Given the description of an element on the screen output the (x, y) to click on. 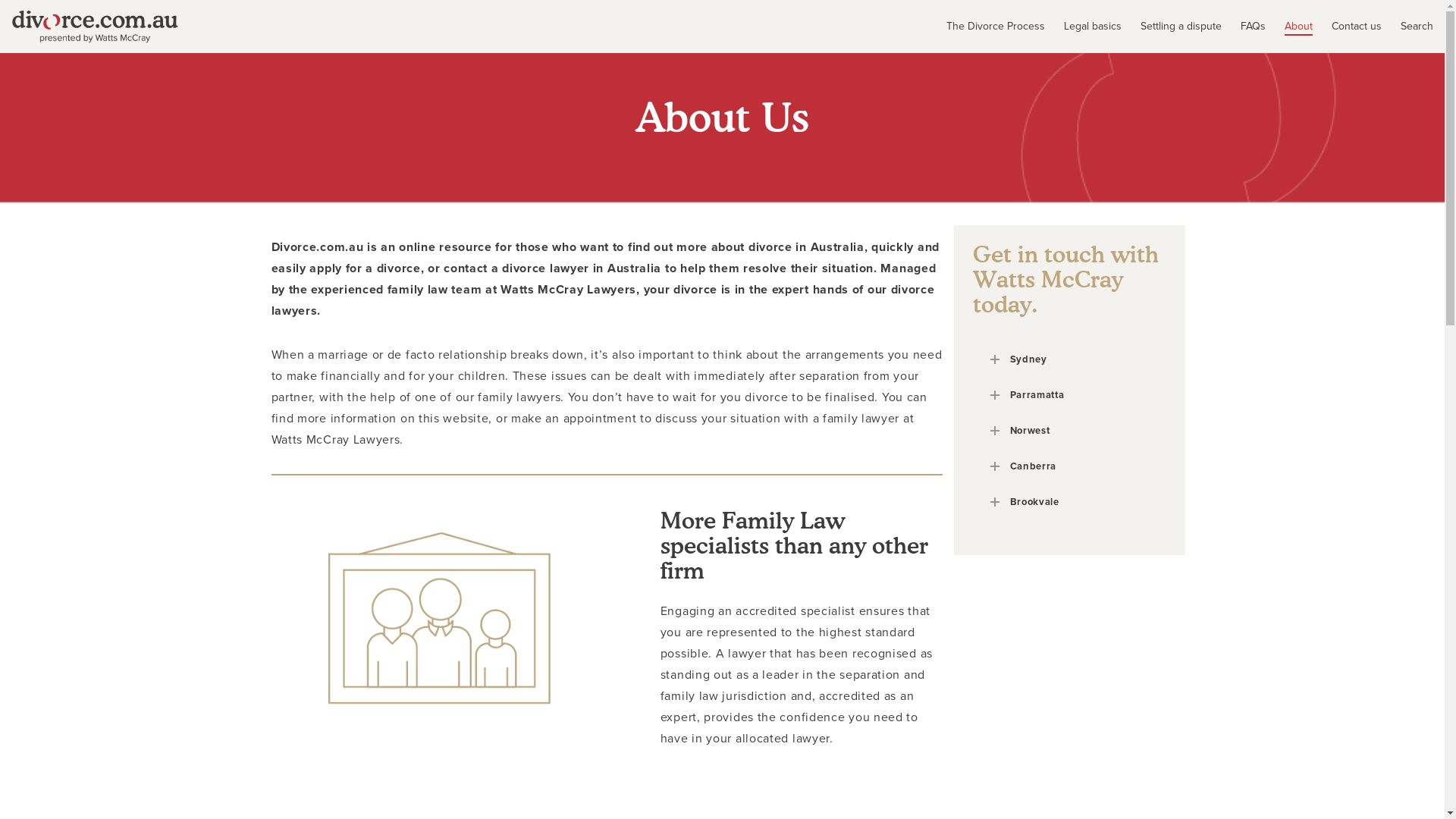
Sydney Element type: text (1069, 359)
Settling a dispute Element type: text (1171, 26)
Parramatta Element type: text (1069, 395)
Search Element type: text (1407, 26)
Contact us Element type: text (1346, 26)
Canberra Element type: text (1069, 466)
contact Element type: text (465, 268)
Legal basics Element type: text (1082, 26)
Watts McCray Lawyers Element type: text (568, 289)
The Divorce Process Element type: text (985, 26)
Norwest Element type: text (1069, 430)
Brookvale Element type: text (1069, 501)
About Element type: text (1288, 26)
FAQs Element type: text (1243, 26)
Divorce.com.au Element type: text (317, 246)
